Given the description of an element on the screen output the (x, y) to click on. 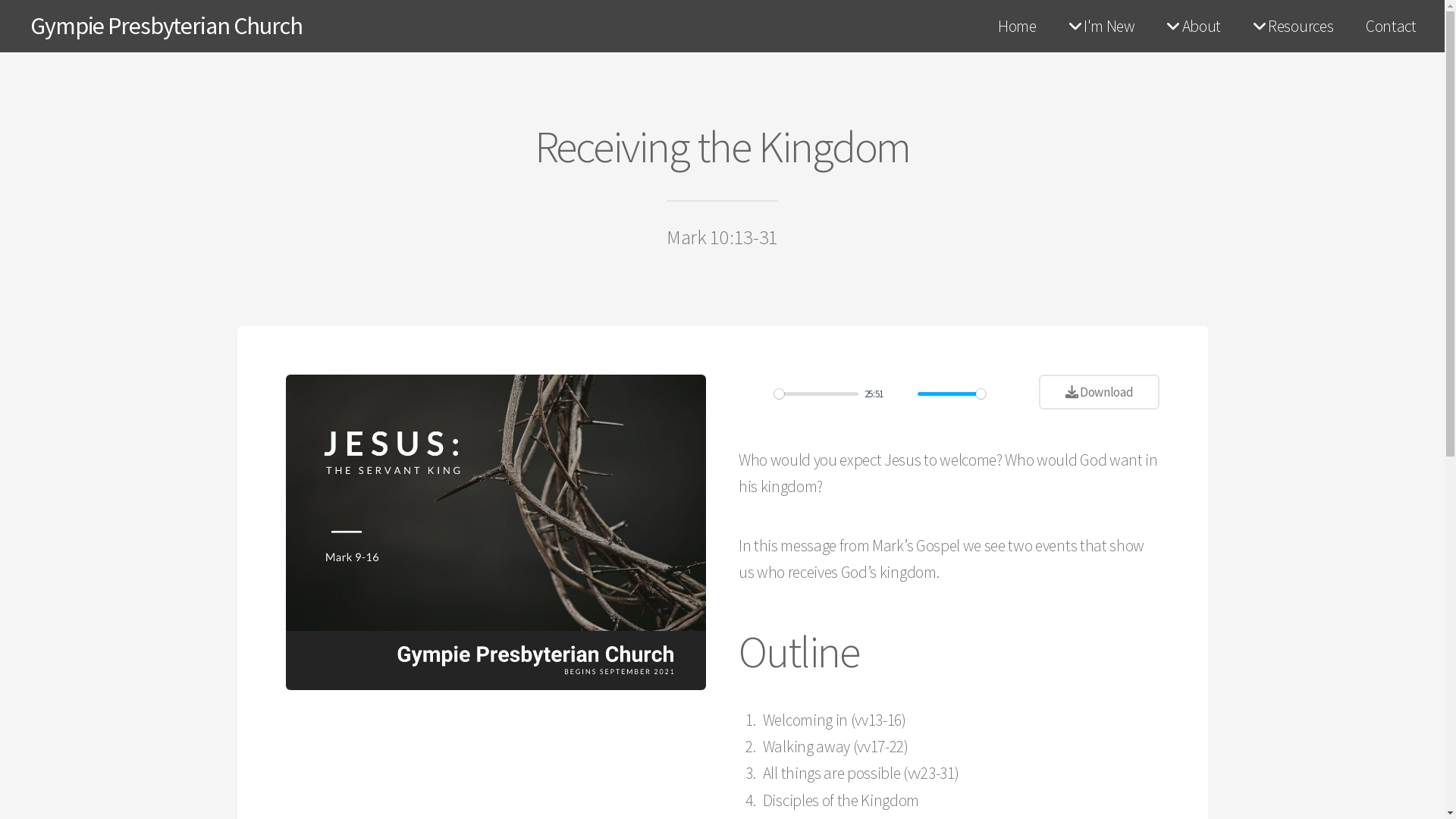
About Element type: text (1193, 26)
I'm New Element type: text (1101, 26)
Resources Element type: text (1292, 26)
Mute Element type: text (901, 394)
Play Element type: text (758, 394)
Home Element type: text (1017, 26)
Contact Element type: text (1390, 26)
 Download Element type: text (1098, 391)
Settings Element type: text (1003, 394)
Gympie Presbyterian Church Element type: text (166, 25)
